Given the description of an element on the screen output the (x, y) to click on. 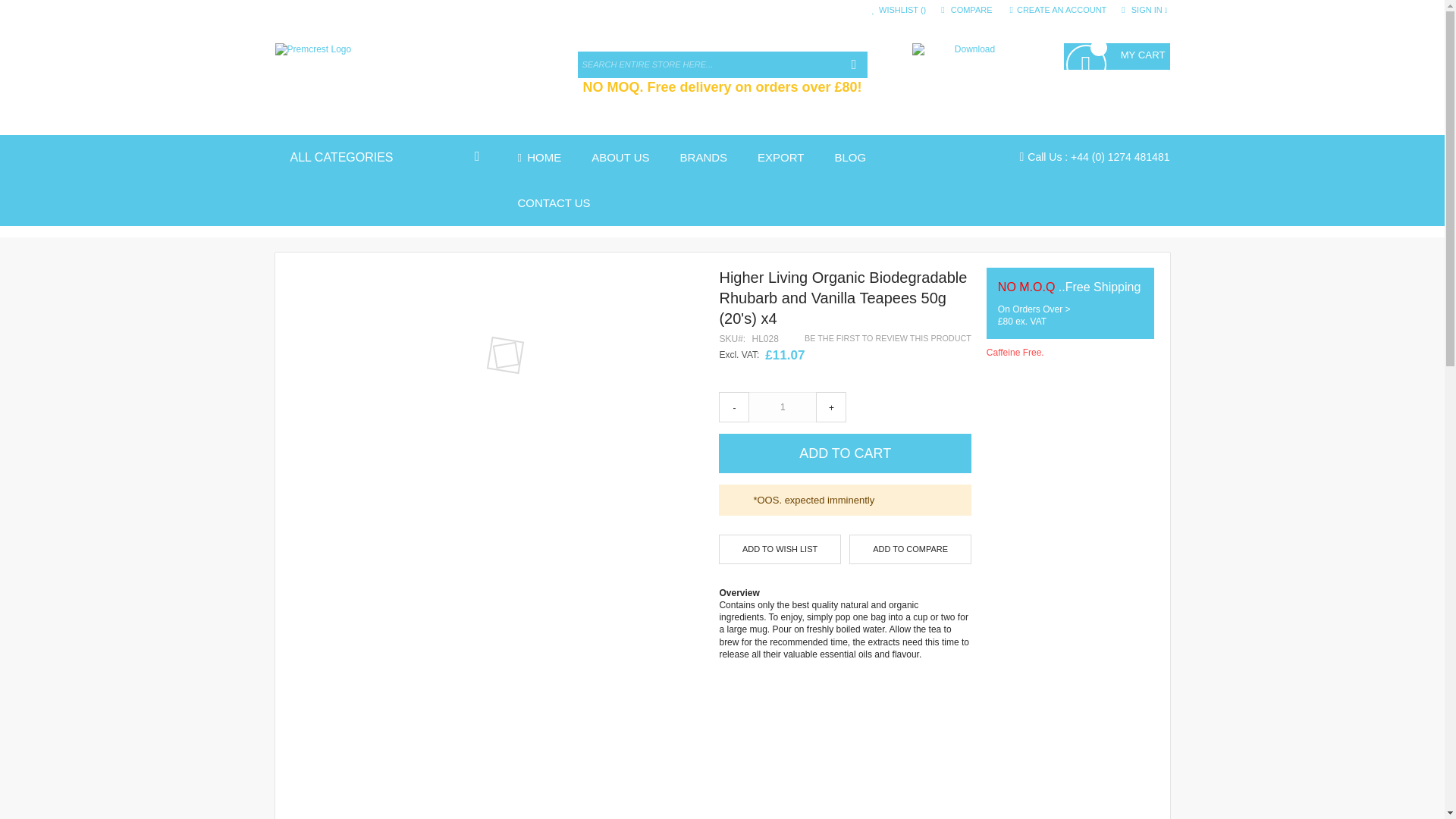
COMPARE (967, 9)
Premcrest Logo (399, 73)
CREATE AN ACCOUNT (1058, 9)
WISHLIST (899, 9)
Search (853, 64)
Add to Cart (845, 453)
Qty (782, 406)
Compare (967, 9)
1 (782, 406)
